Given the description of an element on the screen output the (x, y) to click on. 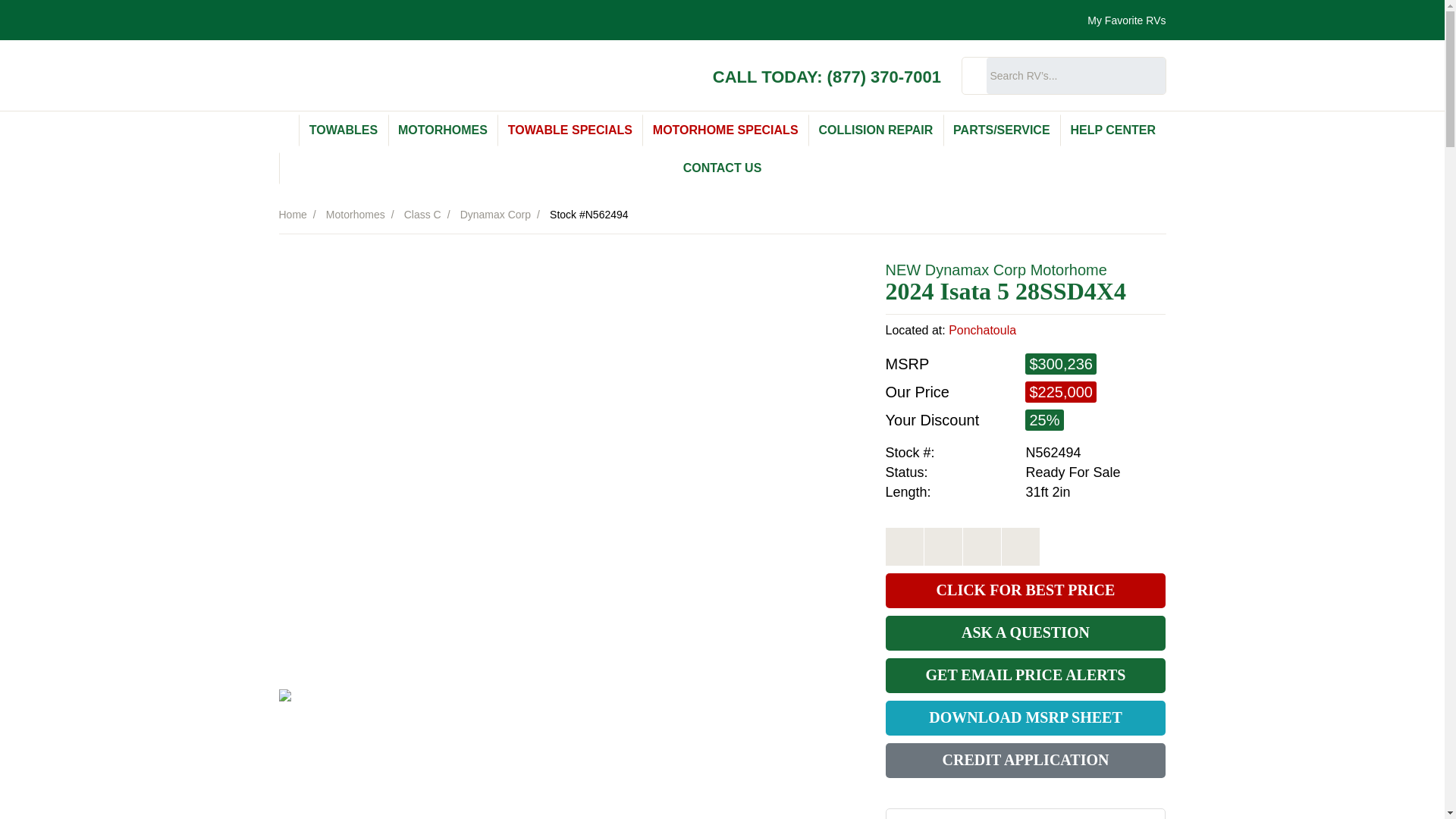
Print (904, 546)
TOWABLES (342, 130)
Dynamax Corp (495, 214)
Motorhomes (355, 214)
Isata 5 (975, 290)
Toggle as Favorite (1020, 546)
Dynamax Corp (975, 269)
Ask A Question (981, 546)
Class C (422, 214)
CLICK FOR BEST PRICE (1025, 590)
Berryland Campers (422, 76)
Ponchatoula (982, 328)
GET EMAIL PRICE ALERTS (1025, 675)
HELP CENTER (1112, 130)
Home (293, 214)
